Given the description of an element on the screen output the (x, y) to click on. 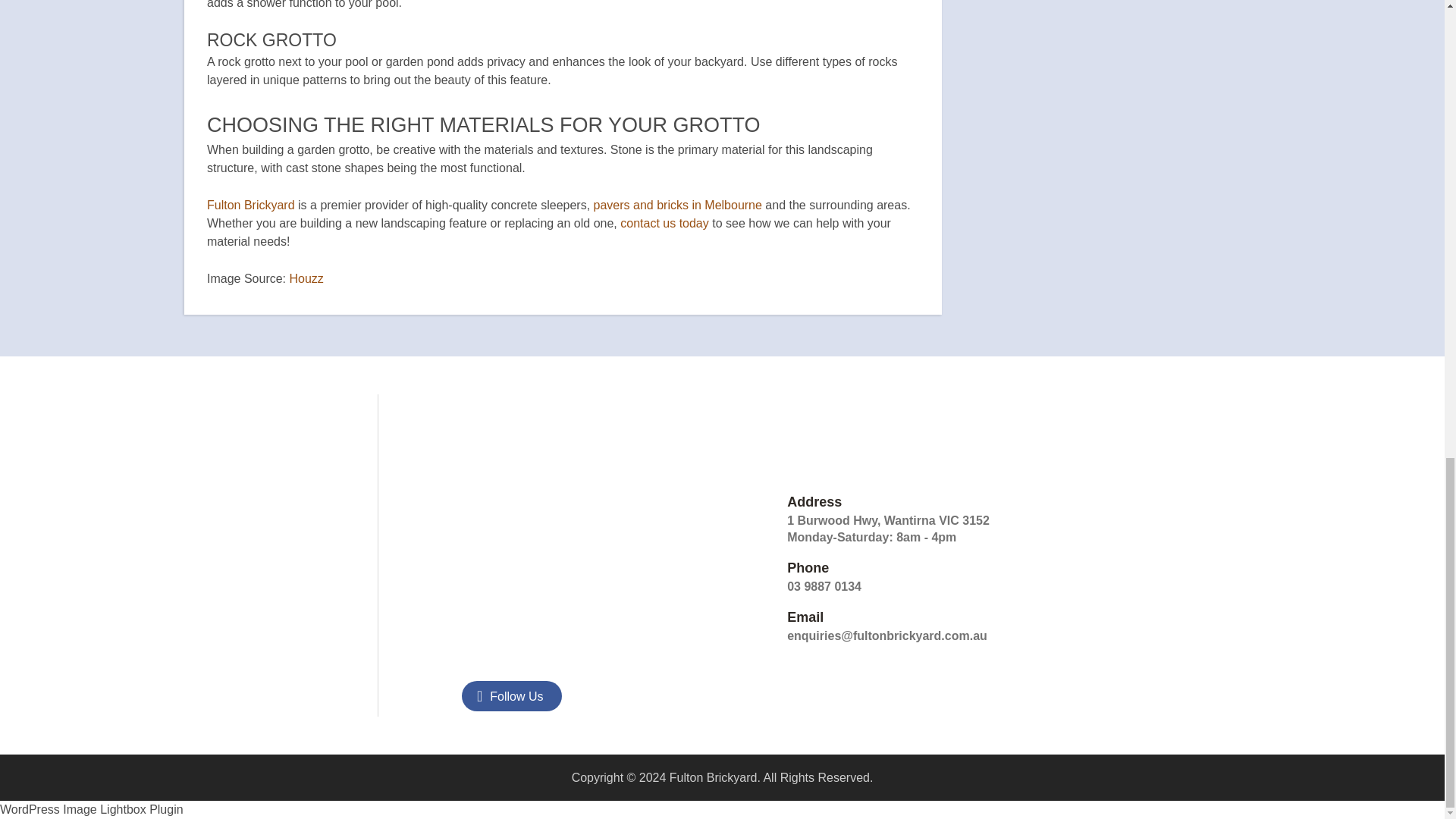
Fulton Brickyard (250, 205)
WordPress Image Lightbox Plugin (91, 809)
contact us today (664, 223)
pavers and bricks in Melbourne (677, 205)
